Given the description of an element on the screen output the (x, y) to click on. 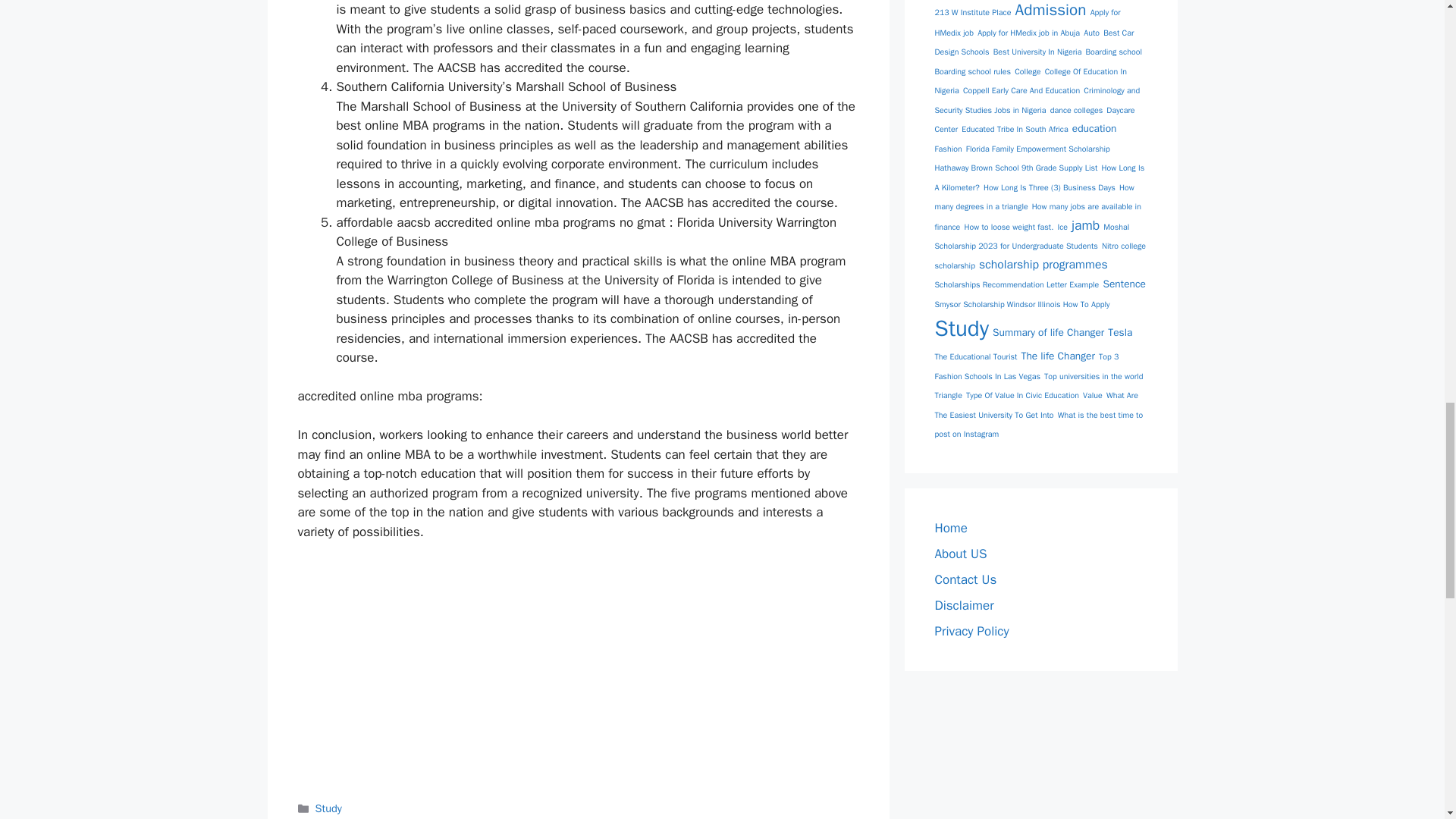
Boarding school (1113, 51)
Study (328, 807)
Best University In Nigeria (1036, 51)
Advertisement (576, 667)
Auto (1091, 32)
213 W Institute Place (972, 12)
Boarding school rules (972, 71)
Admission (1050, 9)
Apply for HMedix job (1026, 22)
Best Car Design Schools (1034, 42)
Apply for HMedix job in Abuja (1028, 32)
